Given the description of an element on the screen output the (x, y) to click on. 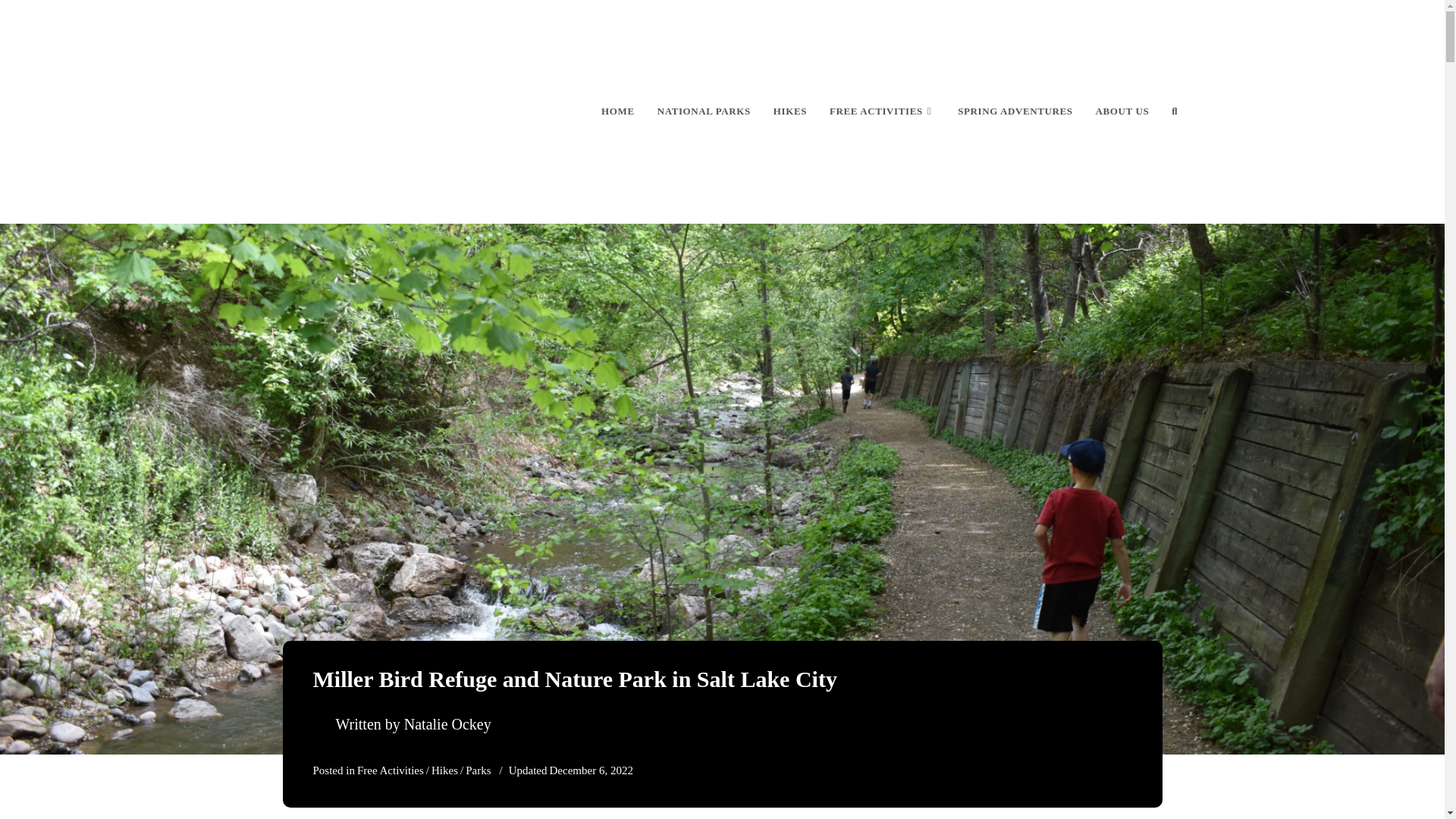
Free Activities (389, 770)
ABOUT US (1122, 111)
HIKES (789, 111)
Parks (477, 770)
HOME (617, 111)
FREE ACTIVITIES (882, 111)
NATIONAL PARKS (703, 111)
SPRING ADVENTURES (1014, 111)
Hikes (444, 770)
Natalie Ockey (448, 723)
